Given the description of an element on the screen output the (x, y) to click on. 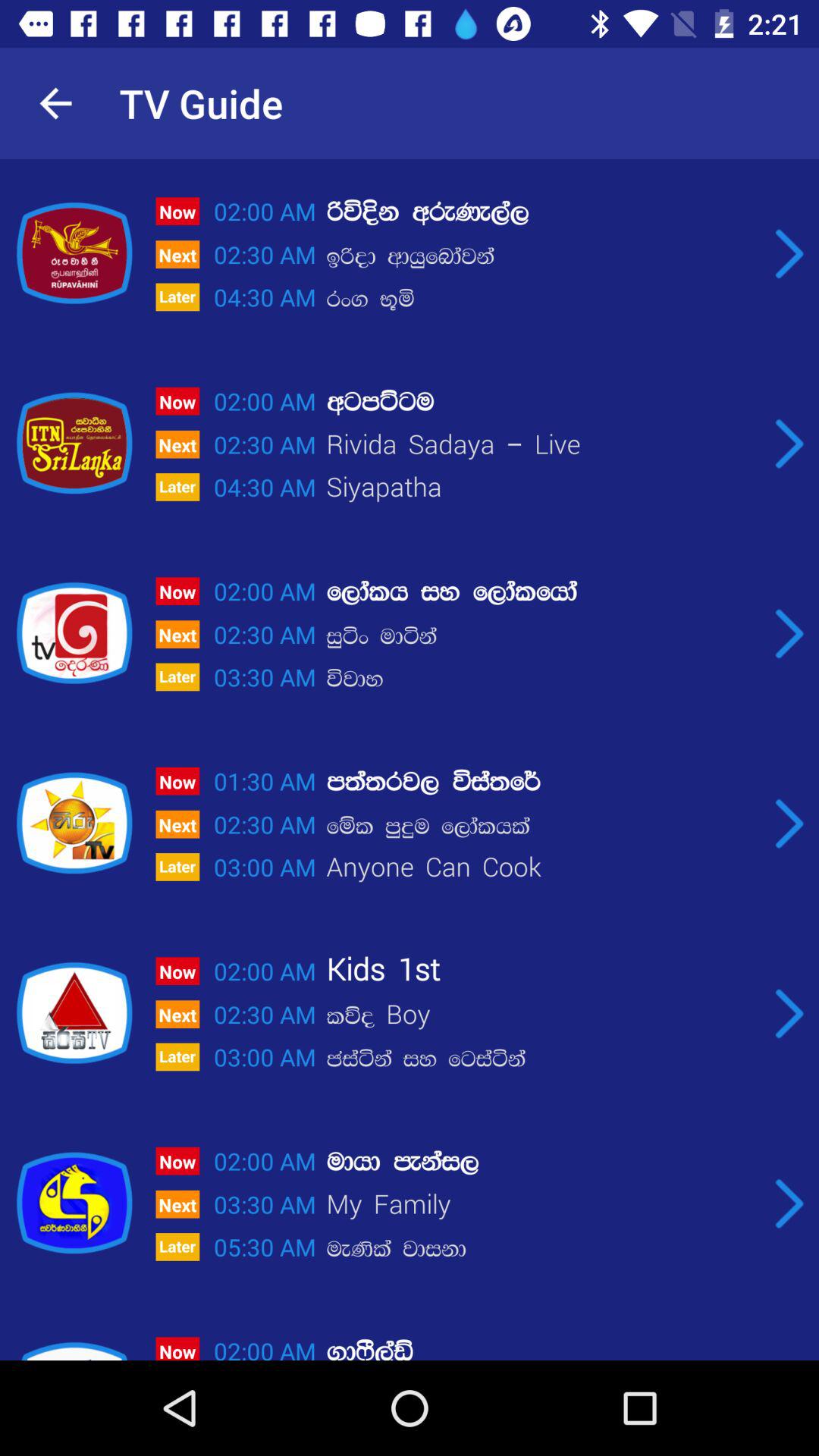
press the icon next to 02:00 am icon (542, 401)
